Given the description of an element on the screen output the (x, y) to click on. 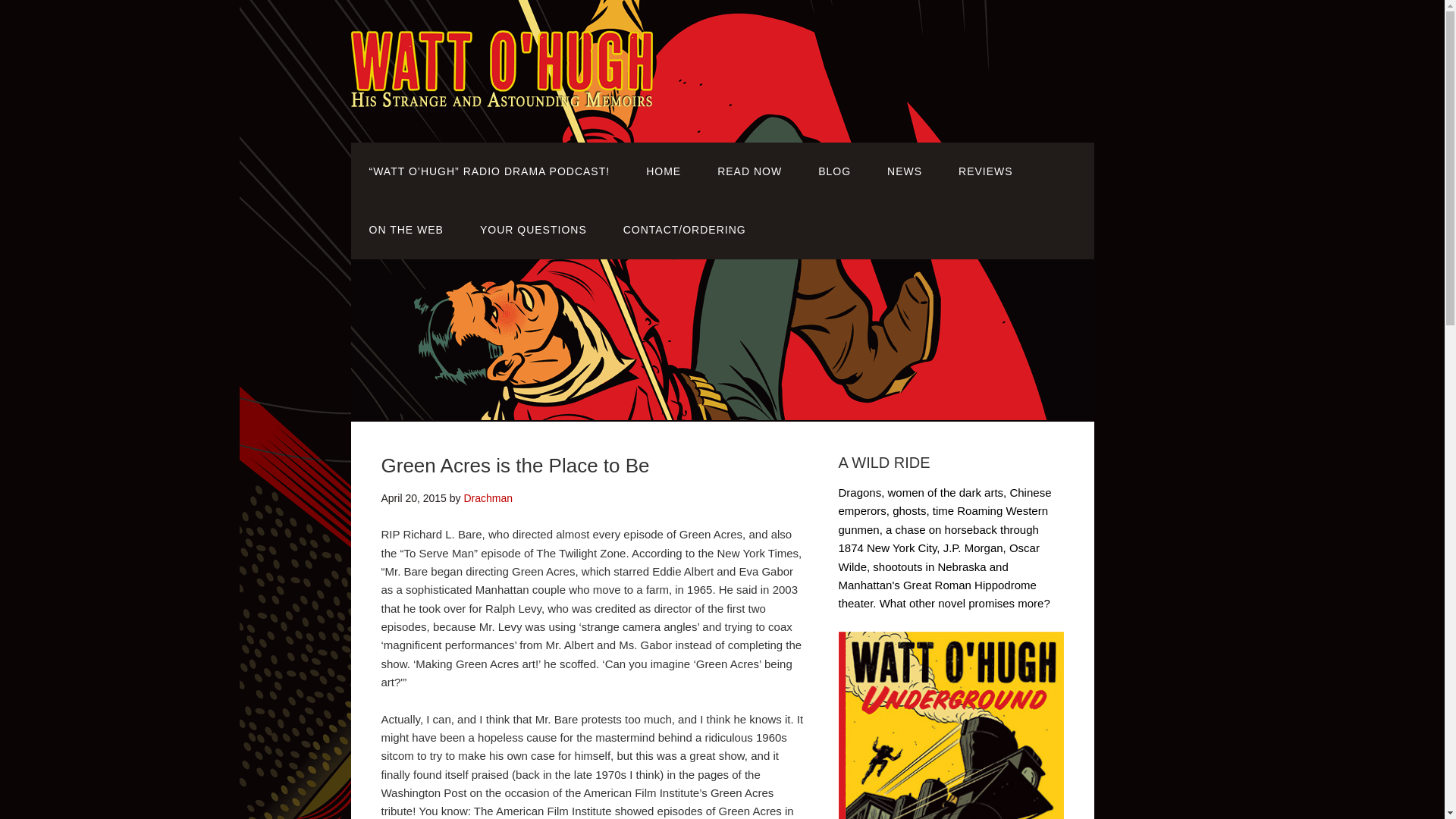
HOME (662, 171)
Drachman (487, 498)
Posts by Drachman (487, 498)
YOUR QUESTIONS (533, 229)
ON THE WEB (405, 229)
Watt O'Hugh: His Strange and Astounding Memoirs (501, 95)
Monday, April 20, 2015, 5:01 pm (412, 498)
NEWS (904, 171)
READ NOW (748, 171)
REVIEWS (985, 171)
BLOG (834, 171)
